Given the description of an element on the screen output the (x, y) to click on. 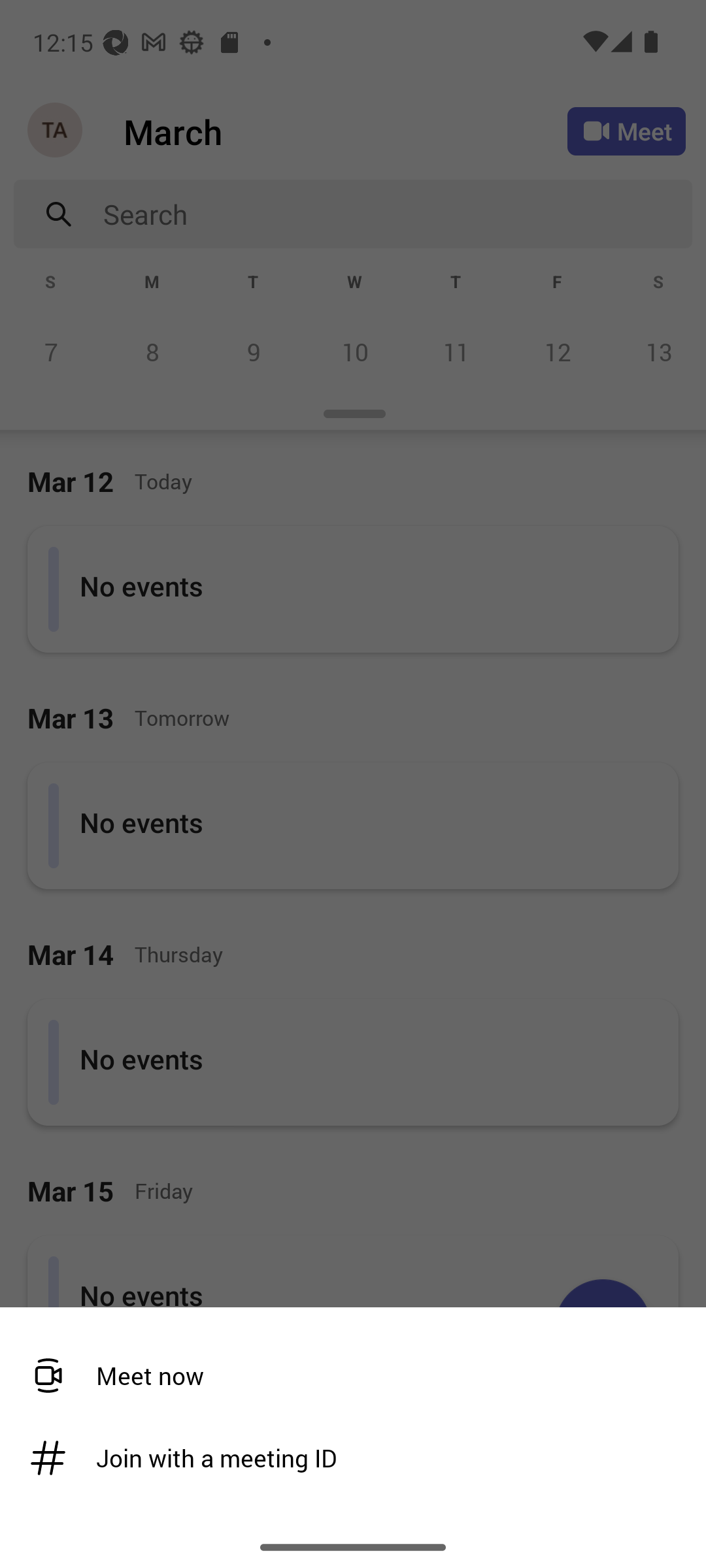
Meet now (346, 1375)
Join with a meeting ID (346, 1458)
